Given the description of an element on the screen output the (x, y) to click on. 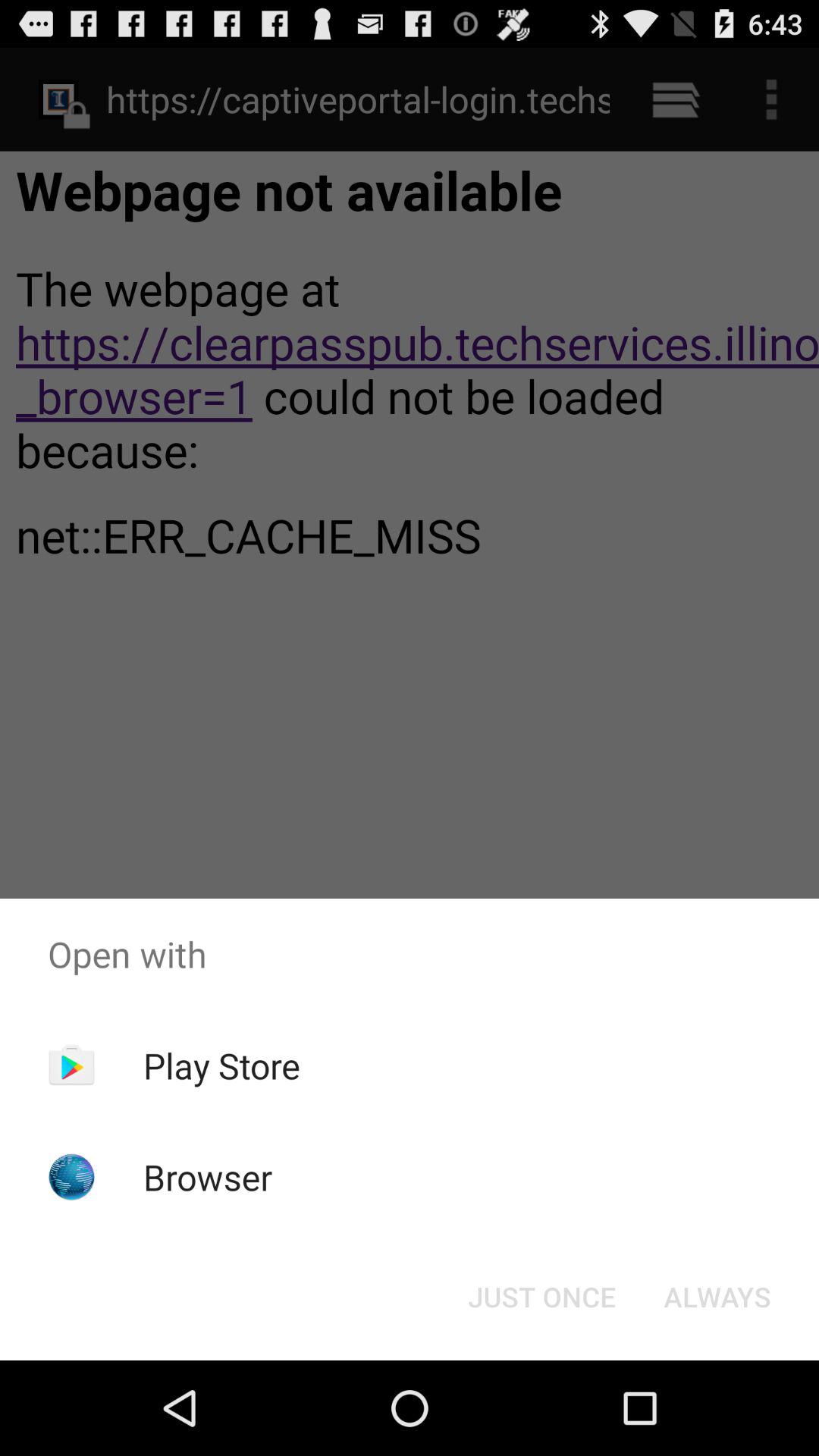
scroll until the just once (541, 1296)
